Given the description of an element on the screen output the (x, y) to click on. 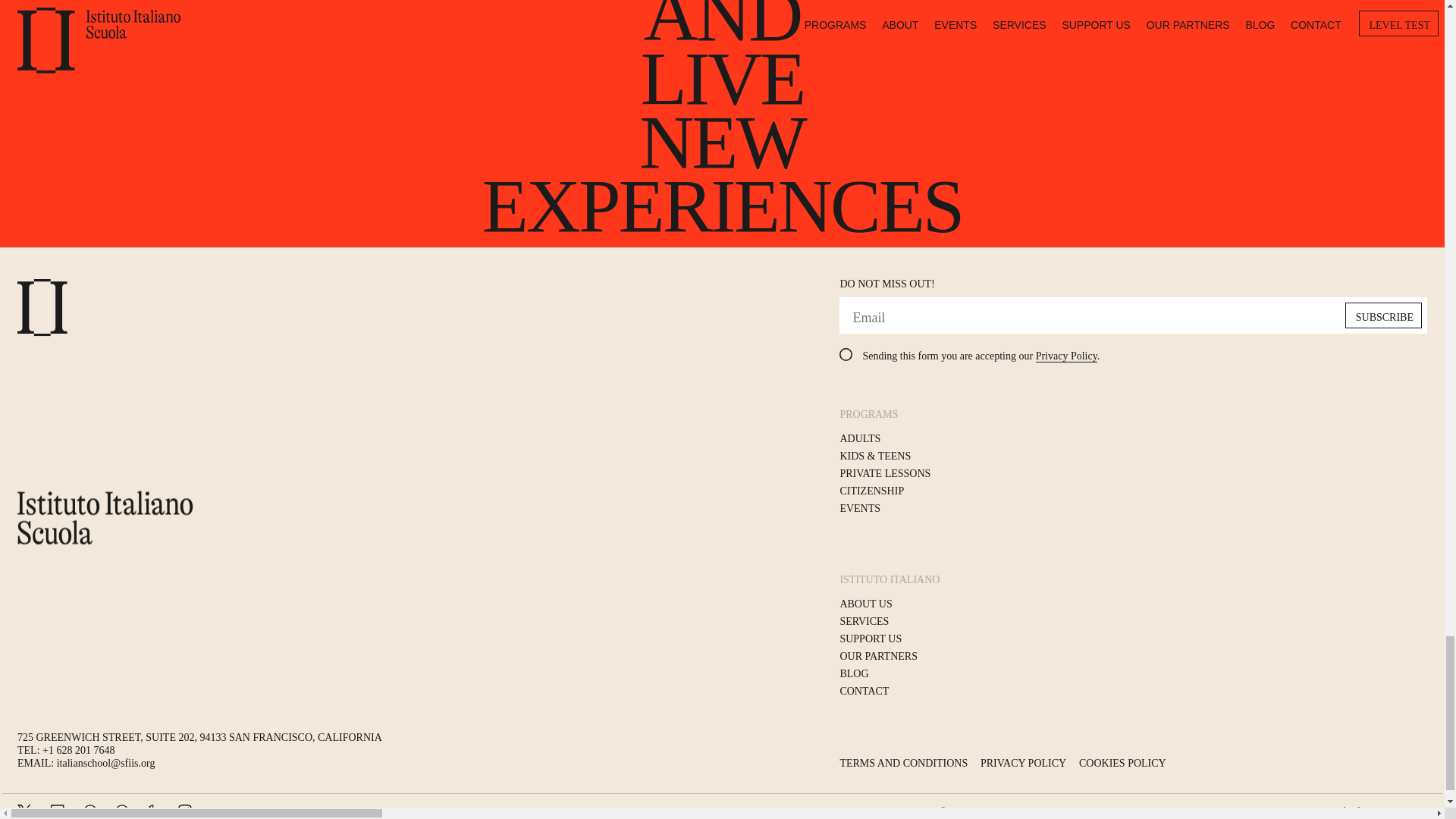
SUBSCRIBE (1383, 315)
ABOUT US (865, 603)
EVENTS (860, 508)
CITIZENSHIP (872, 491)
SUBSCRIBE (1383, 315)
PRIVATE LESSONS (885, 473)
ADULTS (860, 439)
Privacy Policy (1066, 356)
